Given the description of an element on the screen output the (x, y) to click on. 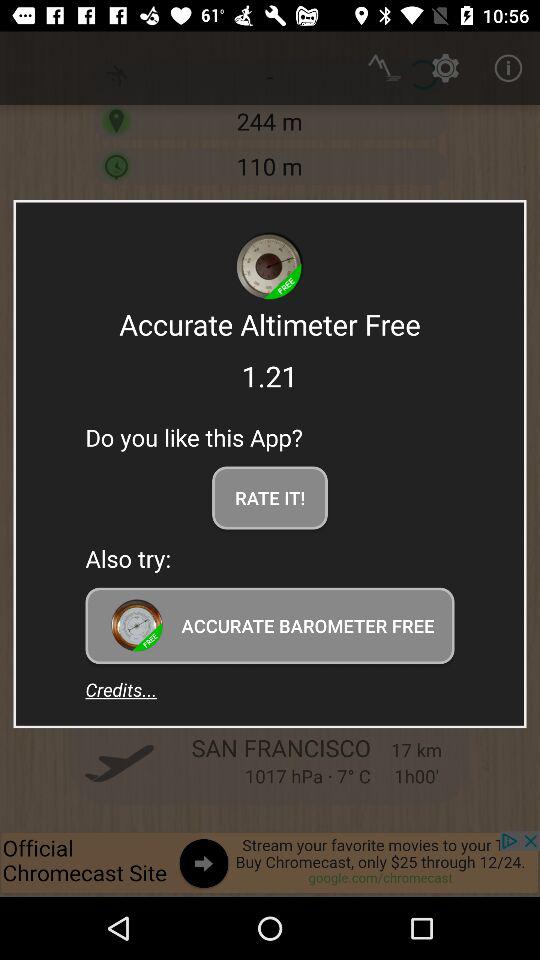
swipe until credits... app (121, 689)
